Given the description of an element on the screen output the (x, y) to click on. 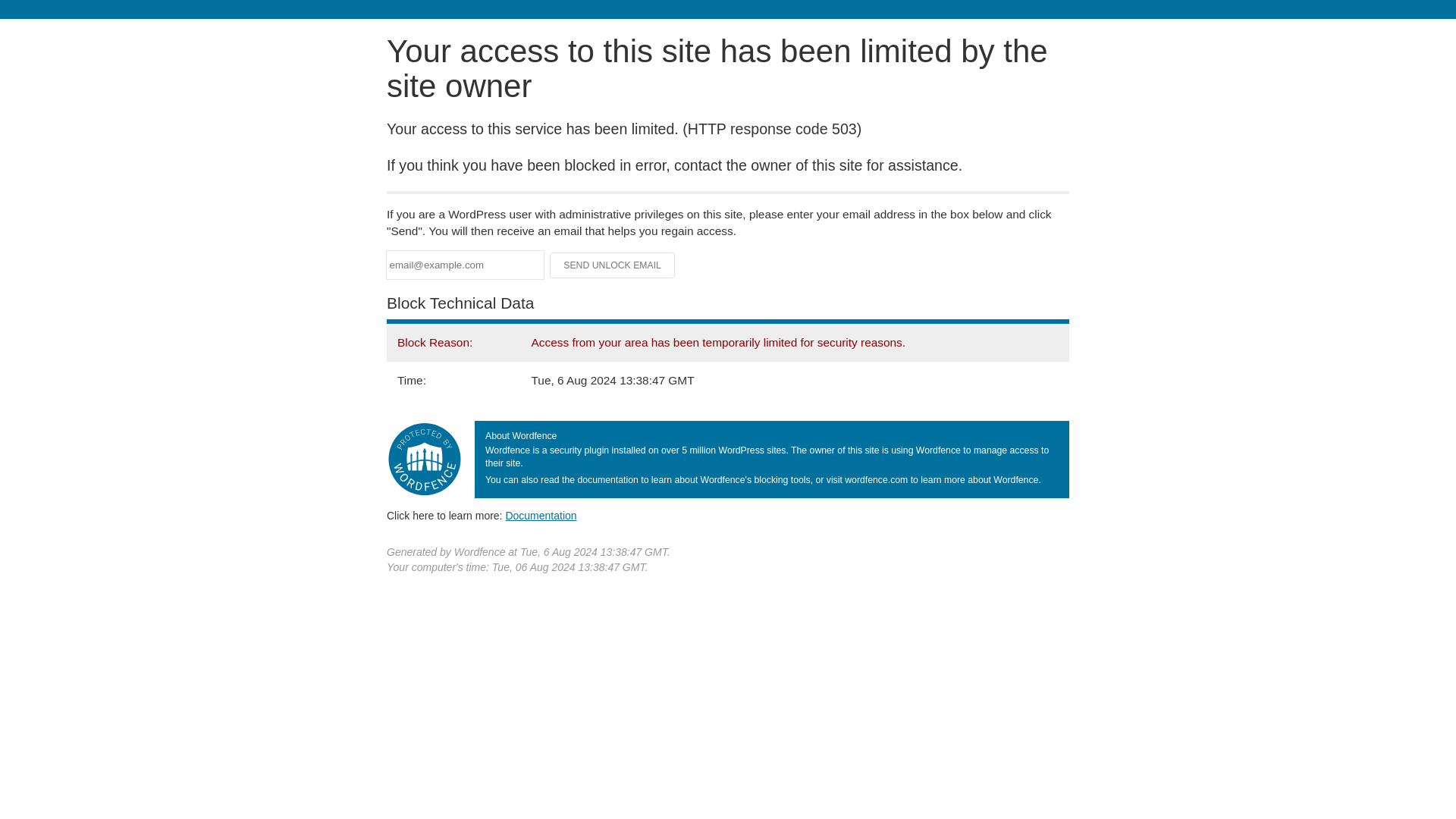
Send Unlock Email (612, 265)
Send Unlock Email (612, 265)
Documentation (540, 515)
